Given the description of an element on the screen output the (x, y) to click on. 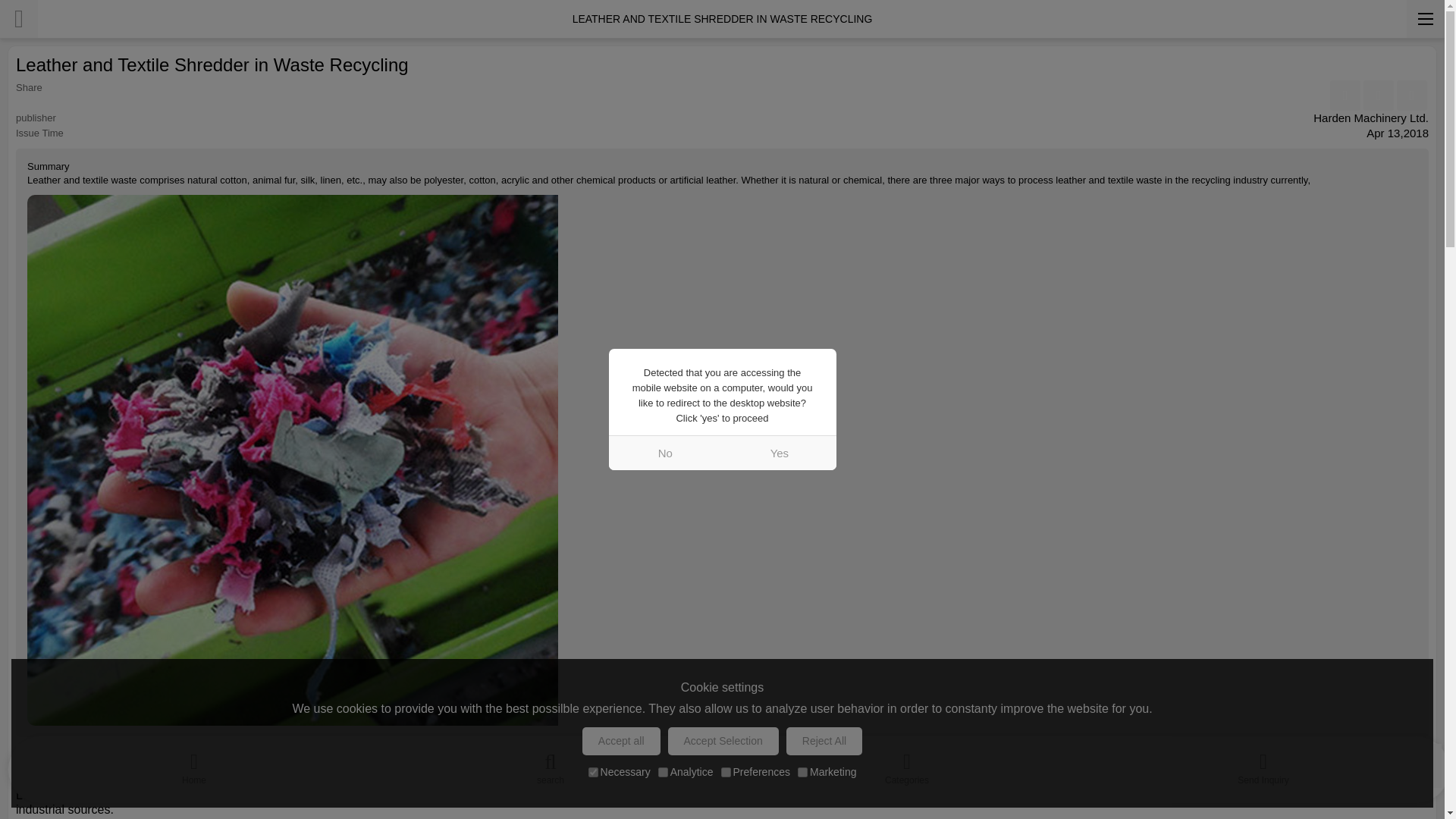
Send Inquiry (1262, 765)
Yes (778, 452)
search (550, 765)
Home (194, 765)
Share Linkedin (1377, 95)
Share Facebook (1344, 95)
on (593, 772)
Accept Selection (723, 741)
search (550, 765)
Categories (906, 765)
No (665, 452)
Send Inquiry (1262, 765)
Reject All (823, 741)
on (725, 772)
Categories (906, 765)
